Given the description of an element on the screen output the (x, y) to click on. 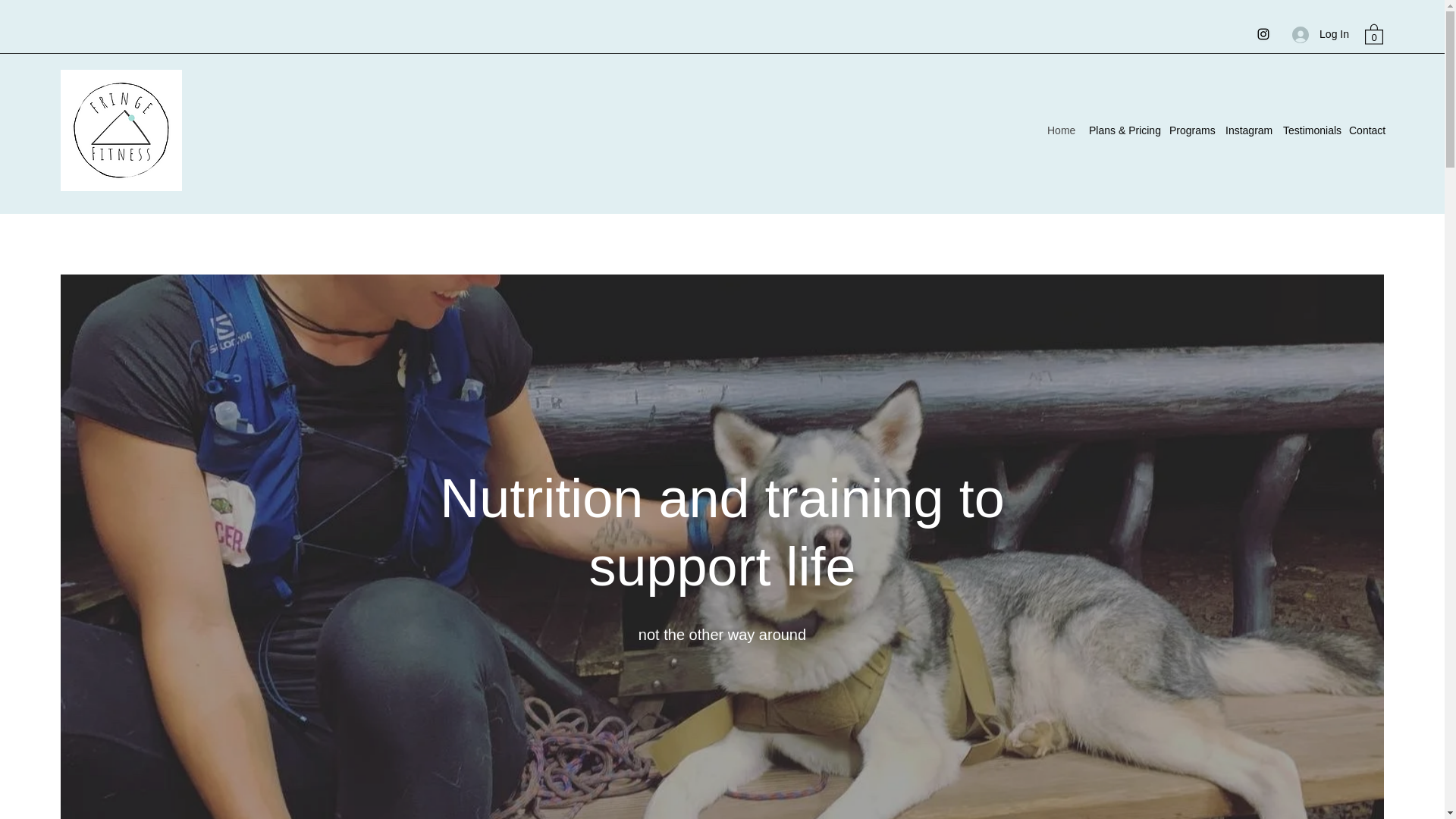
Log In (1320, 34)
Testimonials (1307, 129)
Home (1060, 129)
Contact (1365, 129)
Instagram (1246, 129)
Programs (1189, 129)
